Given the description of an element on the screen output the (x, y) to click on. 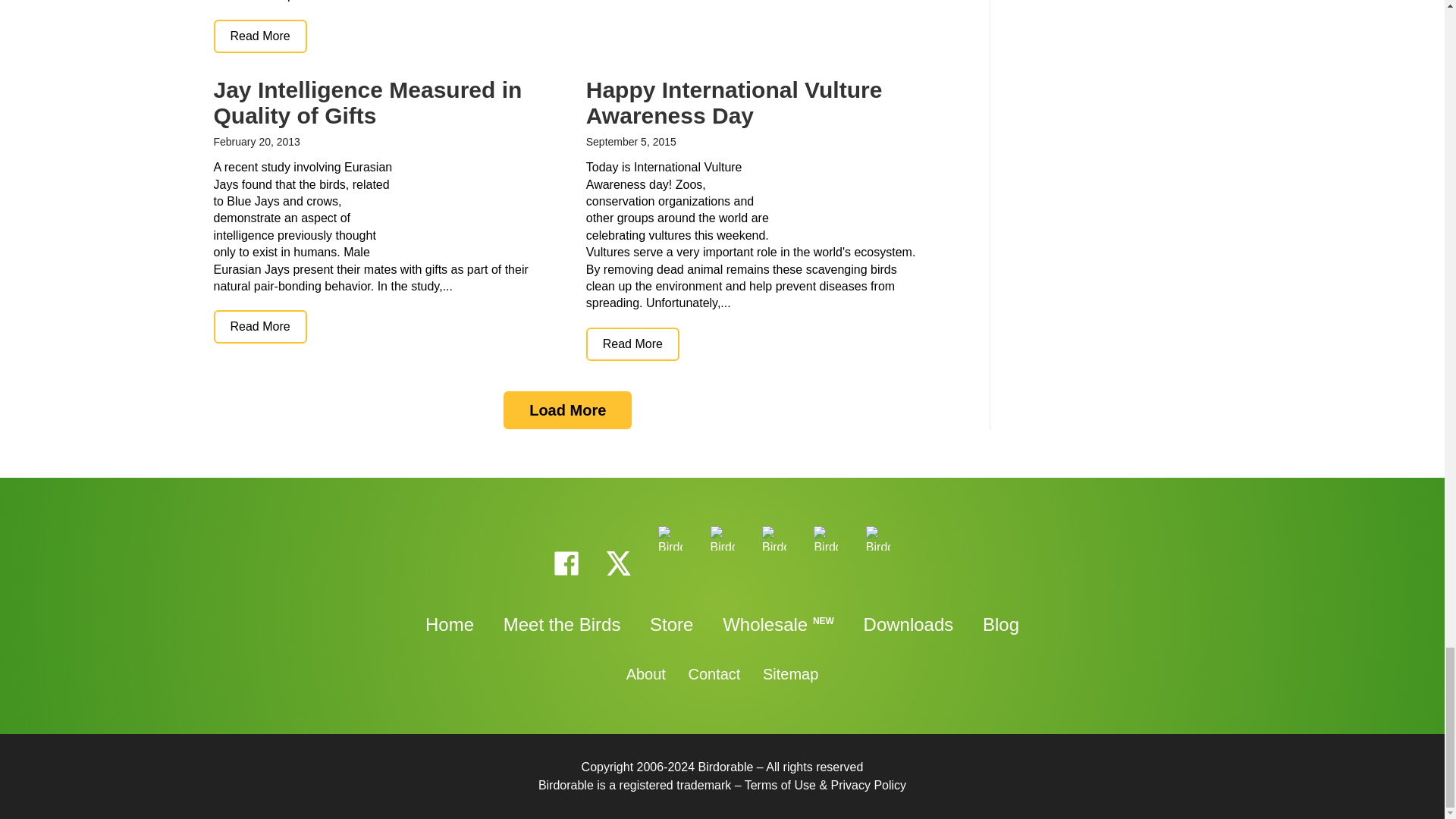
Jay Intelligence Measured in Quality of Gifts (260, 326)
Happy International Vulture Awareness Day (632, 344)
